Given the description of an element on the screen output the (x, y) to click on. 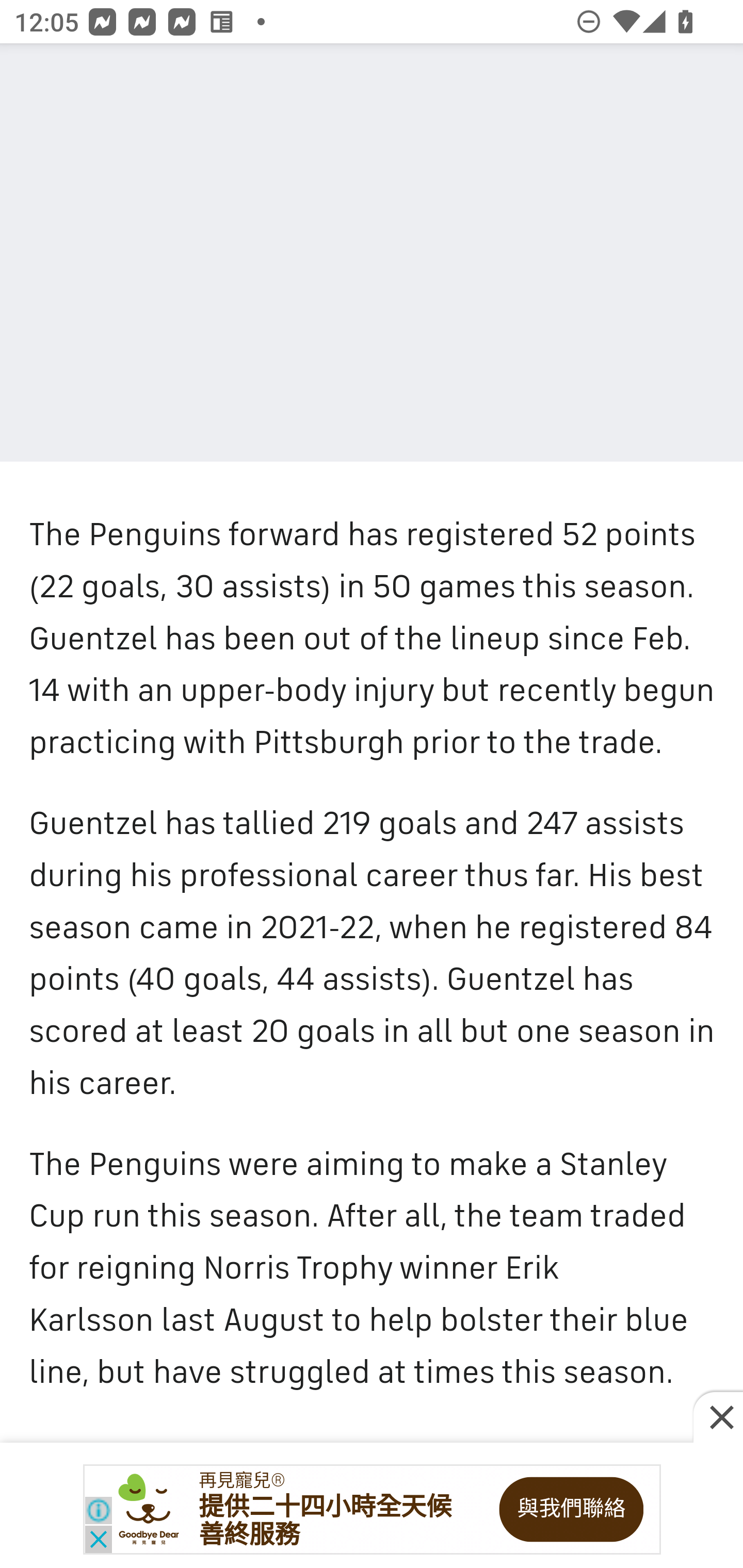
Close this ad (718, 1418)
